Given the description of an element on the screen output the (x, y) to click on. 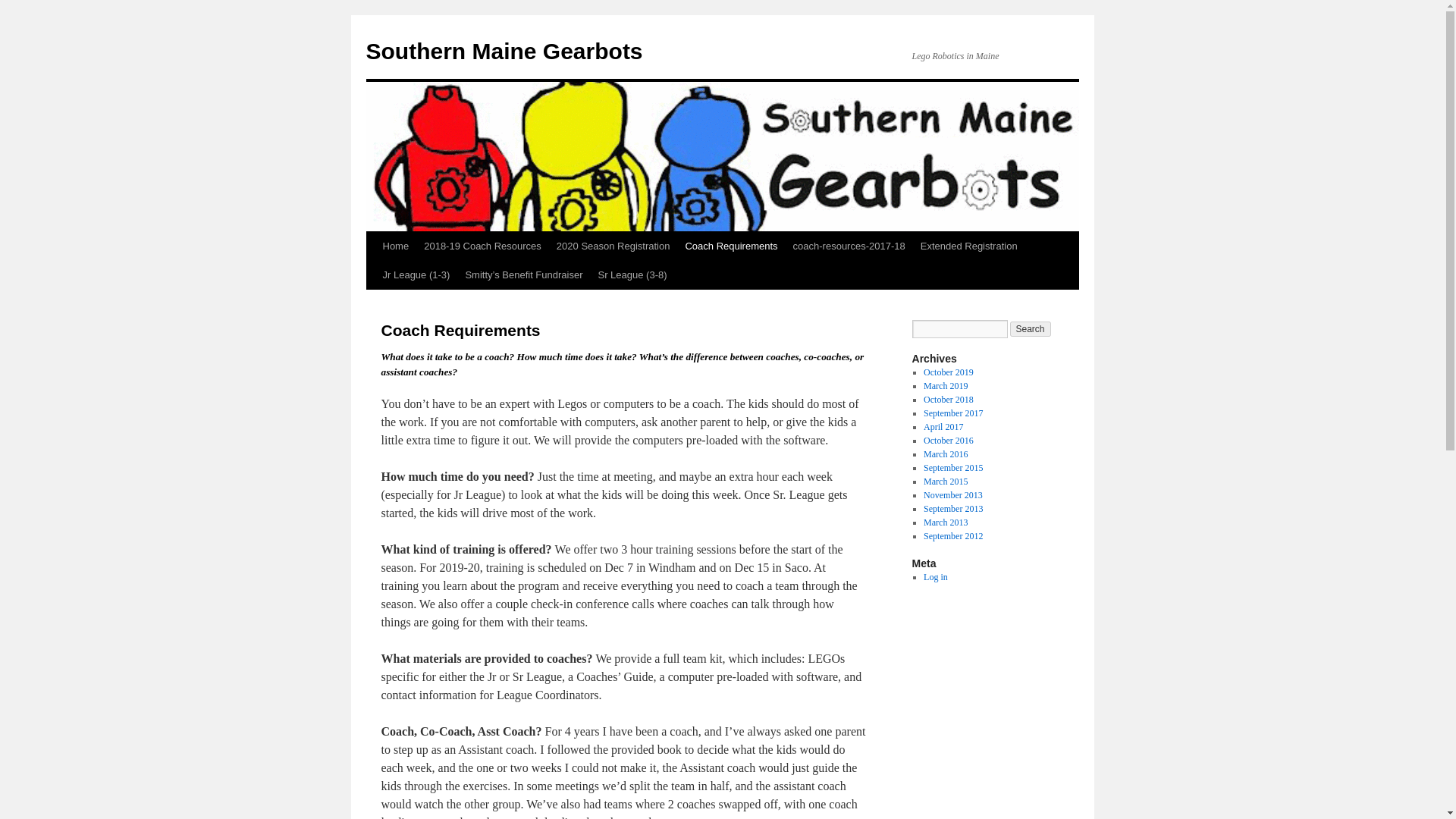
2020 Season Registration (613, 246)
Coach Requirements (730, 246)
March 2015 (945, 480)
Search (1030, 328)
March 2016 (945, 453)
Extended Registration (968, 246)
November 2013 (952, 494)
March 2019 (945, 385)
October 2019 (948, 371)
Home (395, 246)
